Given the description of an element on the screen output the (x, y) to click on. 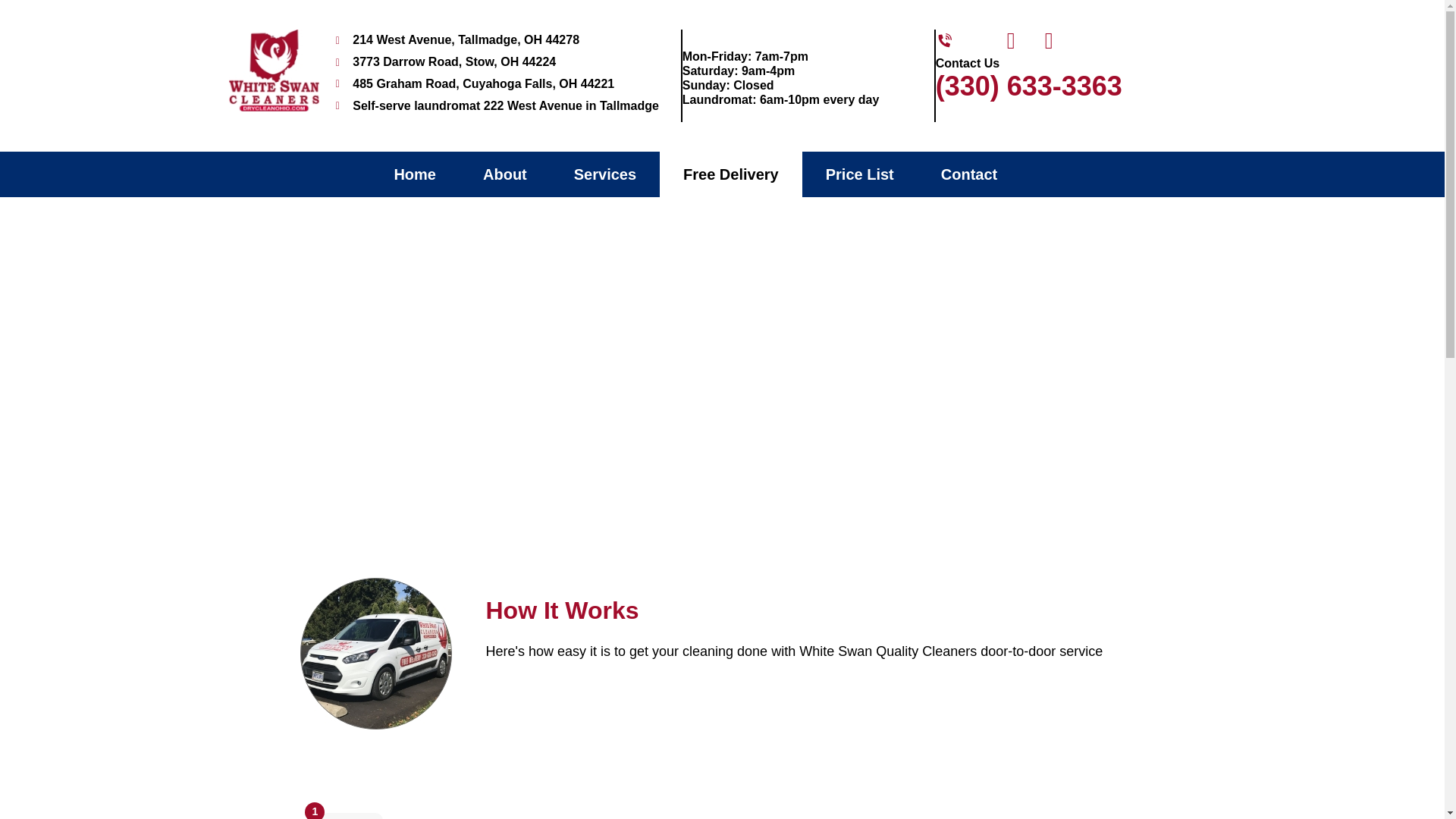
Price List (859, 174)
About (505, 174)
Free Delivery (730, 174)
Home (672, 392)
Free Delivery (746, 392)
Home (414, 174)
Services (604, 174)
Contact (968, 174)
